Given the description of an element on the screen output the (x, y) to click on. 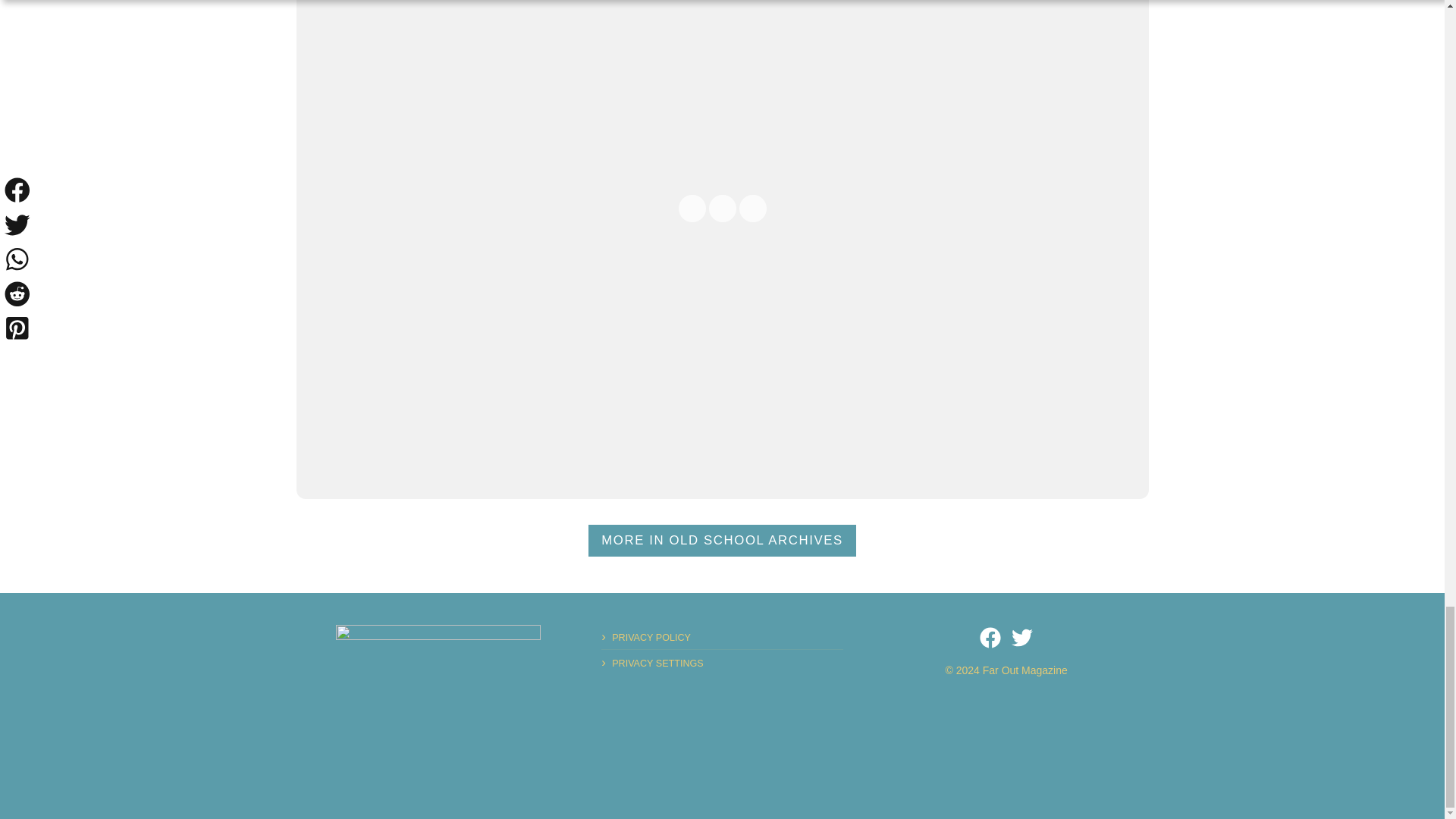
Hip Hop Hero (438, 673)
Hip Hop Hero on Twitter (1021, 637)
Hip Hop Hero on Facebook (990, 637)
More in Old School Archives (722, 540)
